Given the description of an element on the screen output the (x, y) to click on. 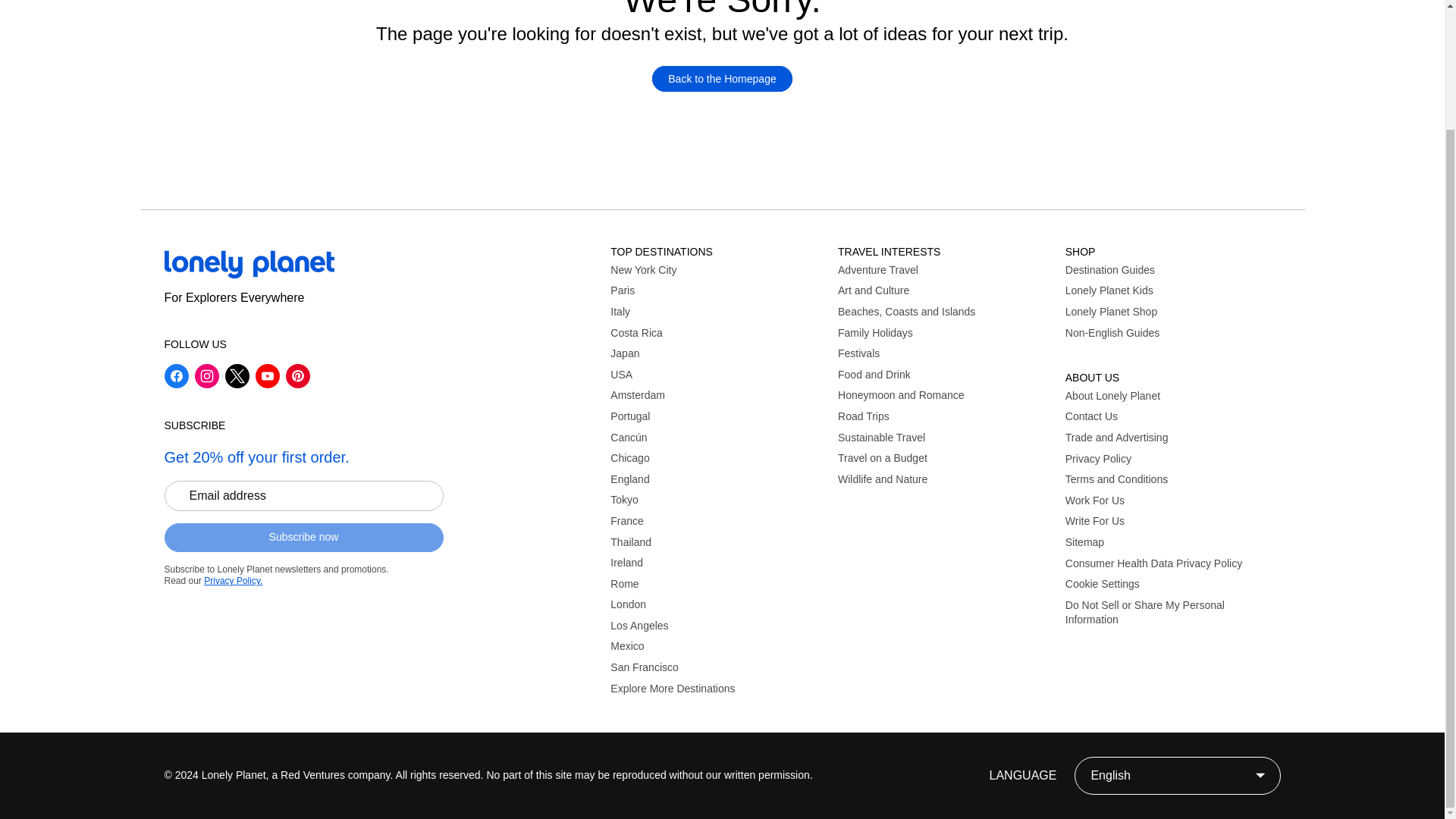
Costa Rica (717, 333)
Tokyo (717, 500)
Chicago (717, 458)
Rome (717, 584)
Portugal (717, 417)
Subscribe now (302, 537)
New York City (717, 270)
England (717, 479)
Ireland (717, 563)
USA (717, 375)
France (717, 521)
Back to the Homepage (722, 78)
Privacy Policy. (232, 580)
Mexico (717, 646)
Amsterdam (717, 395)
